Given the description of an element on the screen output the (x, y) to click on. 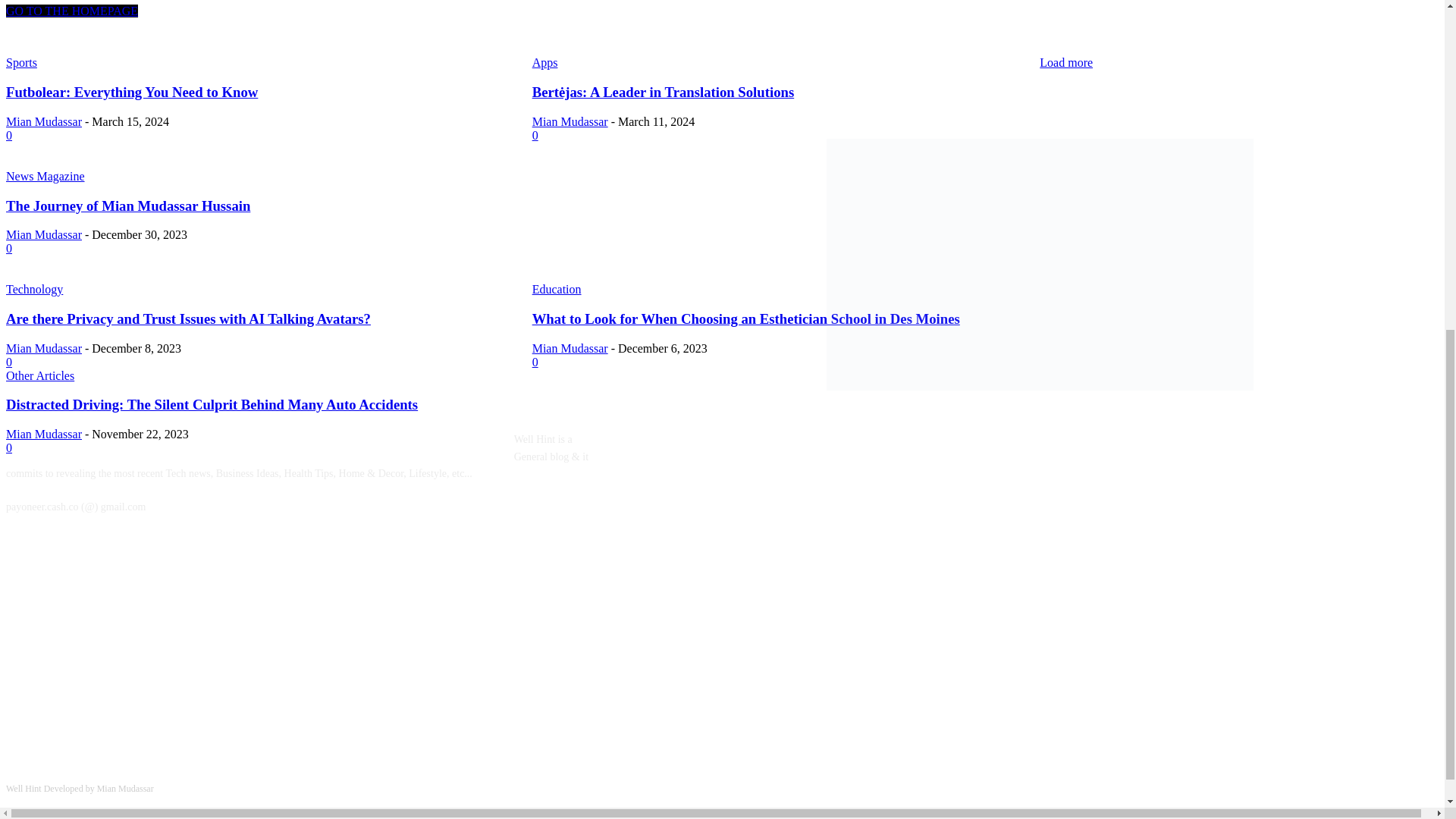
News Magazine (44, 176)
Mian Mudassar (570, 121)
Are there Privacy and Trust Issues with AI Talking Avatars? (188, 318)
Mian Mudassar (43, 121)
Apps (544, 62)
The Journey of Mian Mudassar Hussain (127, 205)
Futbolear: Everything You Need to Know (131, 91)
Sports (21, 62)
Go to the homepage (71, 10)
